Given the description of an element on the screen output the (x, y) to click on. 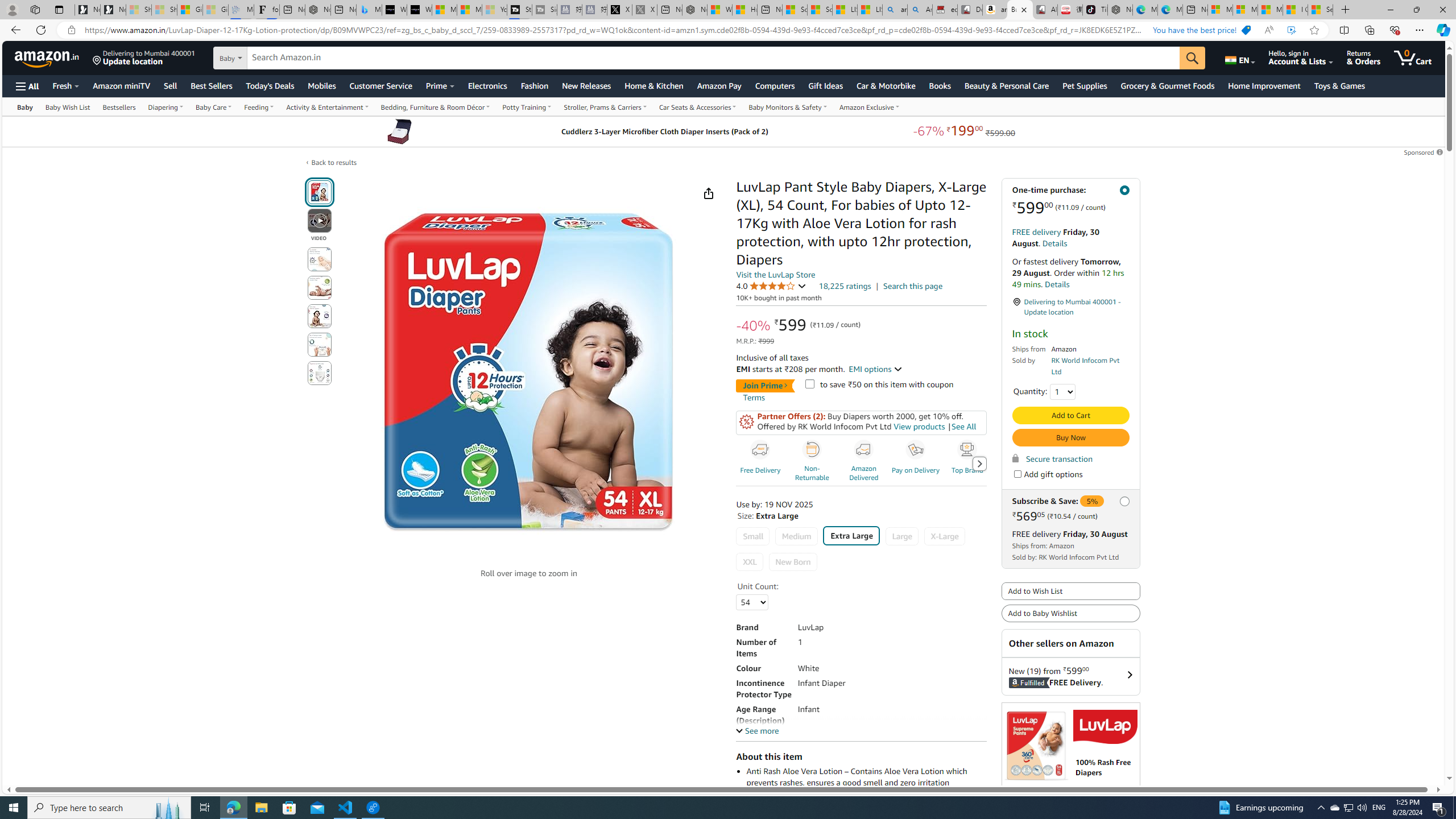
Sell (169, 85)
 View products (917, 426)
Top Brand (969, 462)
Customer Service (380, 85)
Mobiles (322, 85)
Fashion (534, 85)
Fulfilled (1015, 682)
Pay on Delivery (917, 462)
